Given the description of an element on the screen output the (x, y) to click on. 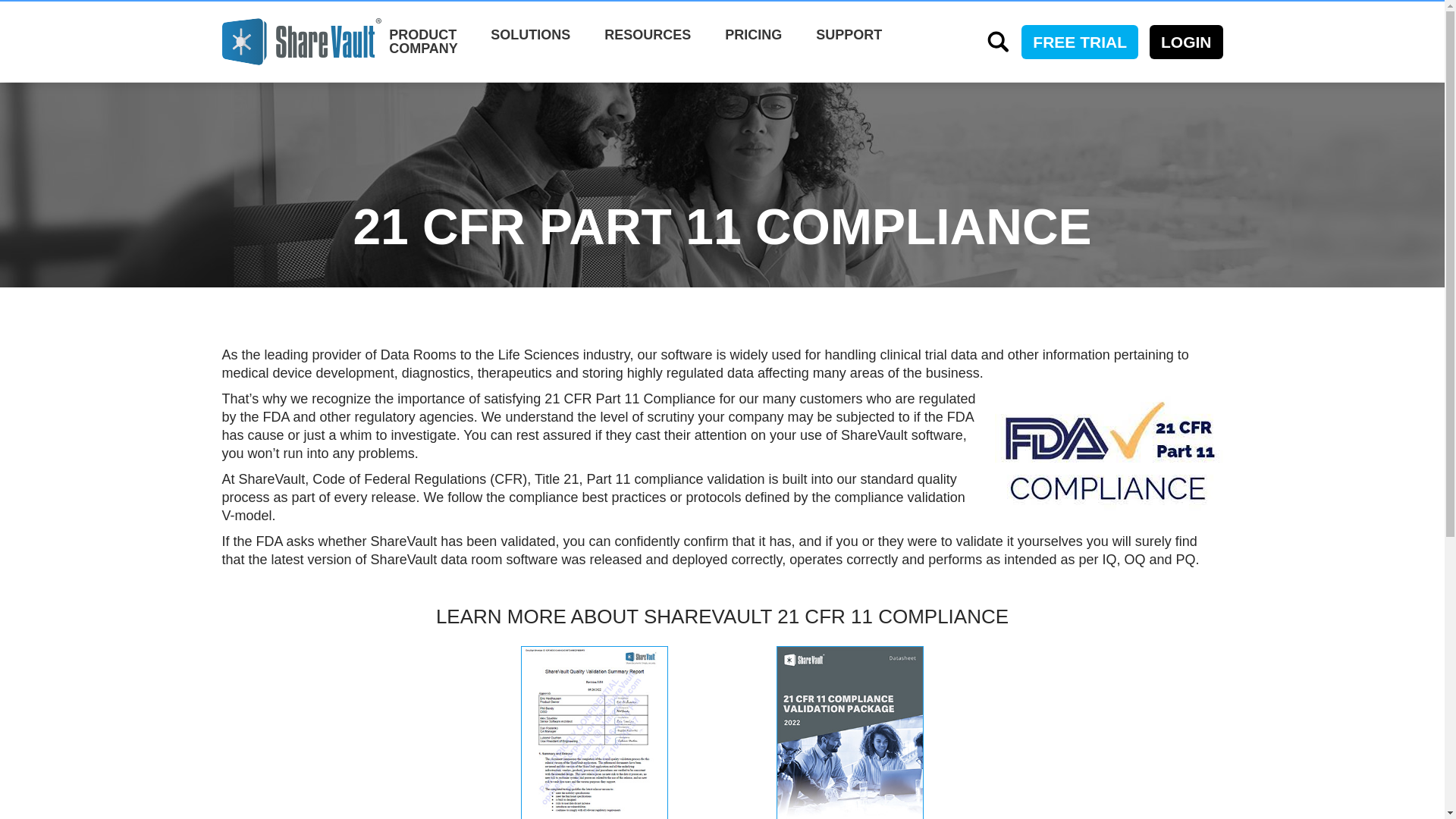
PRODUCT (422, 34)
SOLUTIONS (530, 34)
